Given the description of an element on the screen output the (x, y) to click on. 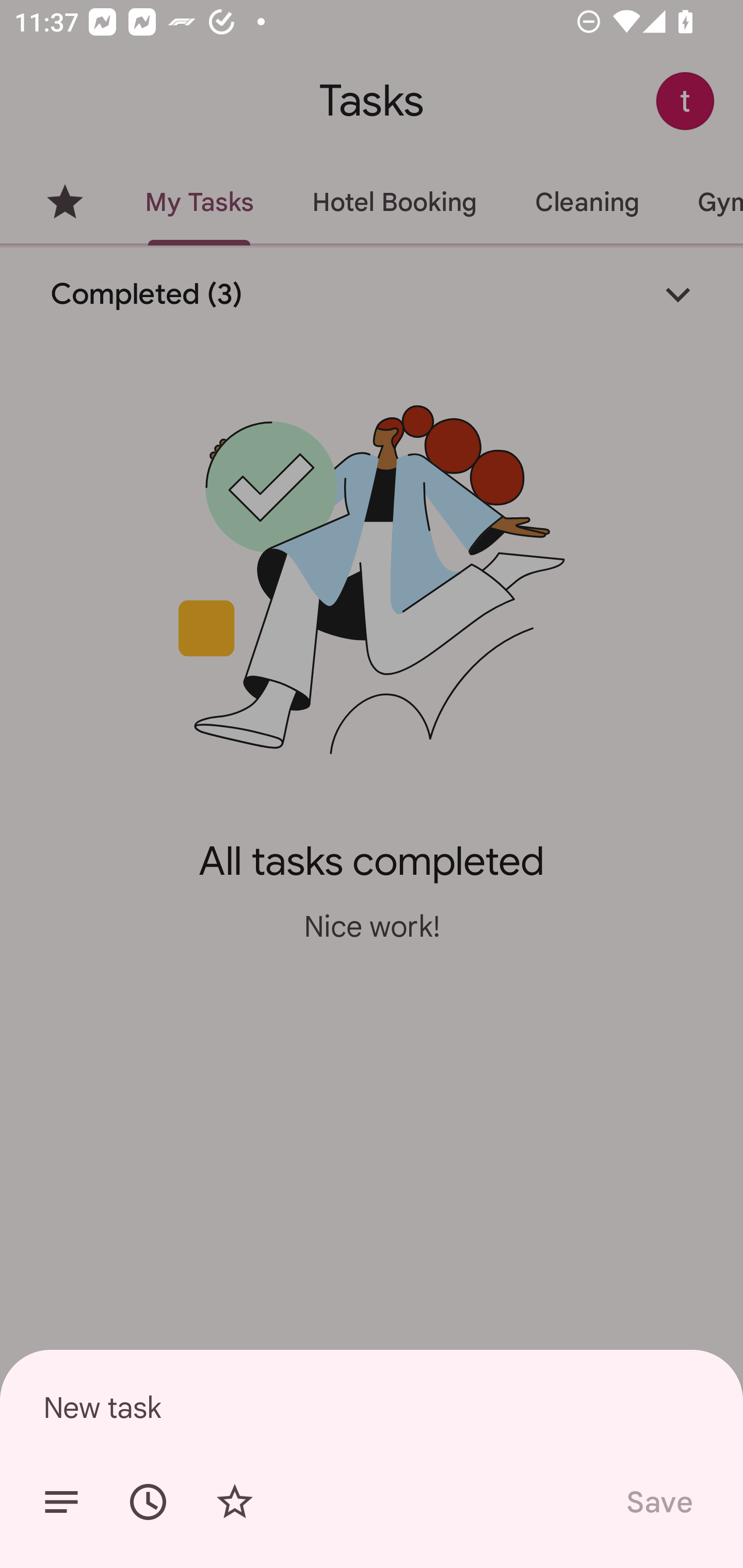
New task (371, 1407)
Save (659, 1501)
Add details (60, 1501)
Set date/time (147, 1501)
Add star (234, 1501)
